Given the description of an element on the screen output the (x, y) to click on. 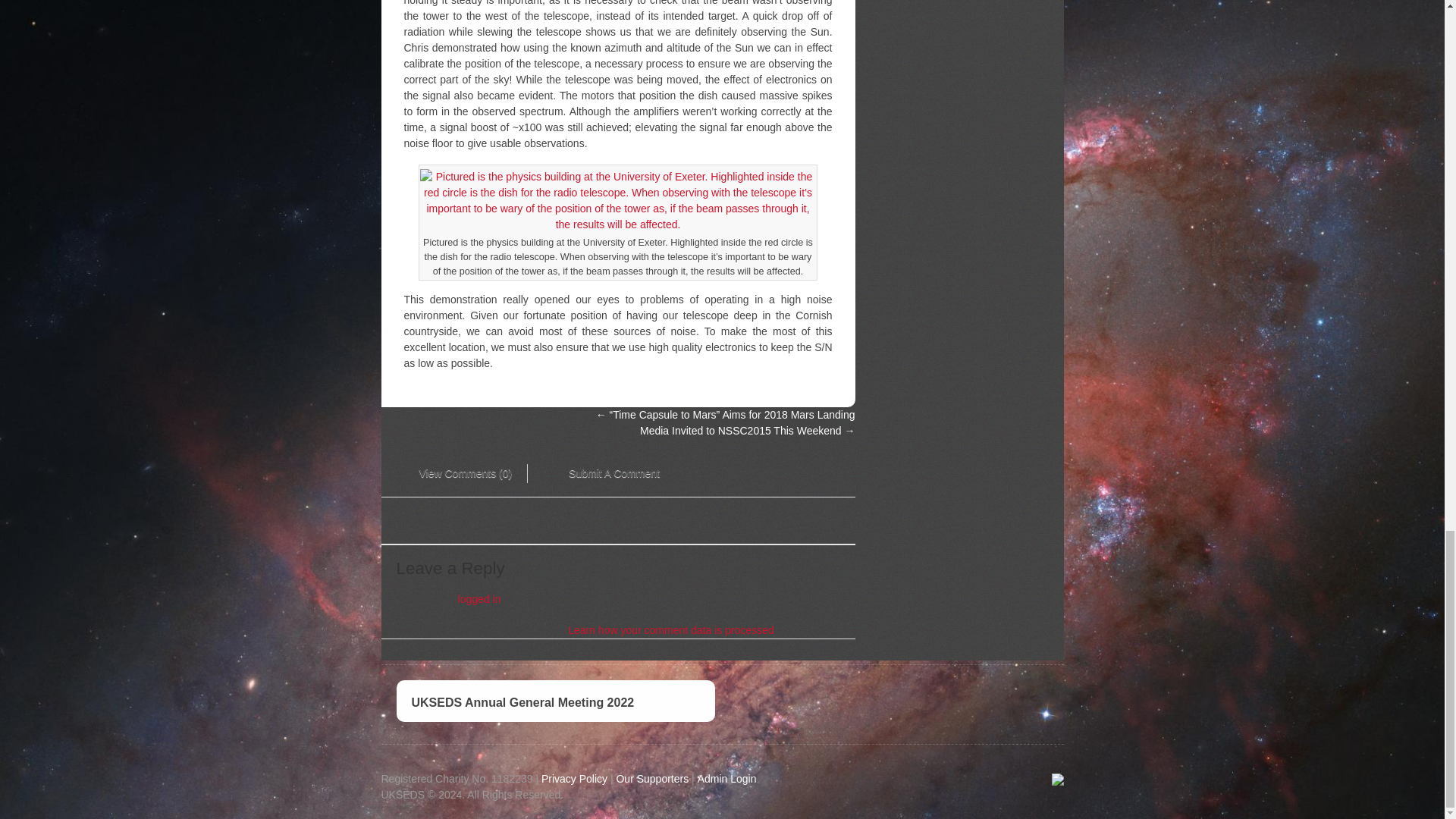
Learn how your comment data is processed (670, 629)
logged in (479, 598)
Submit A Comment (603, 475)
